Given the description of an element on the screen output the (x, y) to click on. 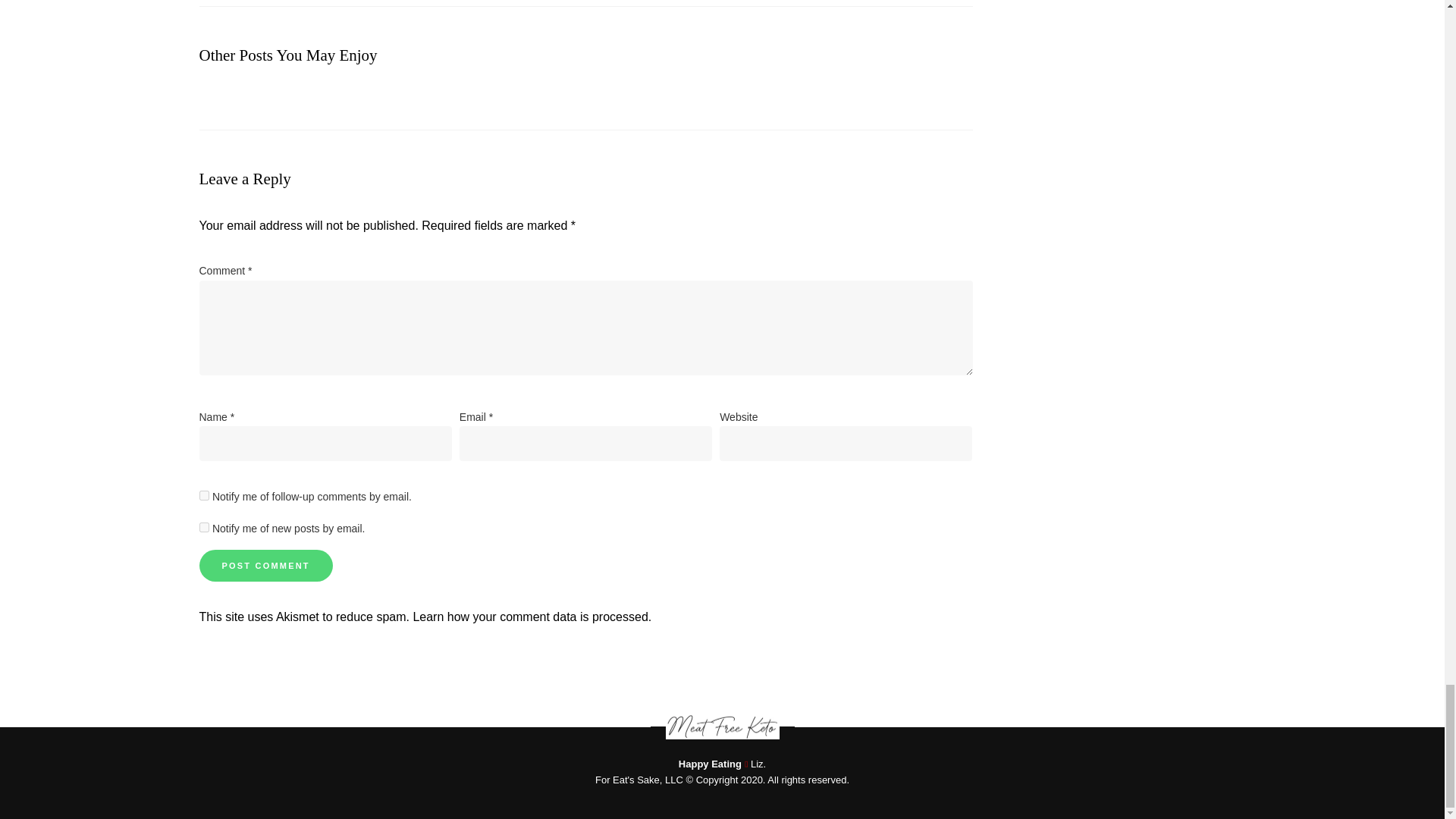
subscribe (203, 527)
subscribe (203, 495)
Post Comment (264, 565)
